Given the description of an element on the screen output the (x, y) to click on. 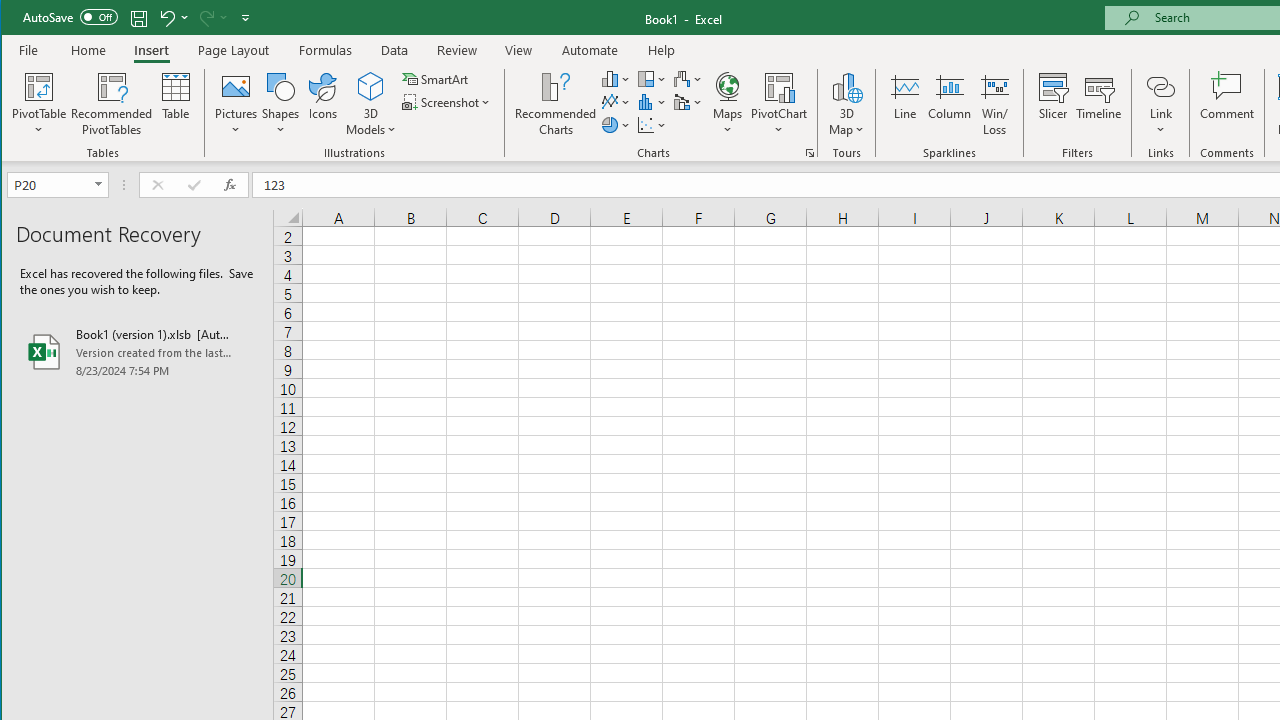
Icons (323, 104)
Column (949, 104)
Insert Column or Bar Chart (616, 78)
Insert Statistic Chart (652, 101)
Table (175, 104)
PivotChart (779, 104)
3D Map (846, 104)
Insert Hierarchy Chart (652, 78)
Link (1160, 86)
3D Models (371, 86)
